Given the description of an element on the screen output the (x, y) to click on. 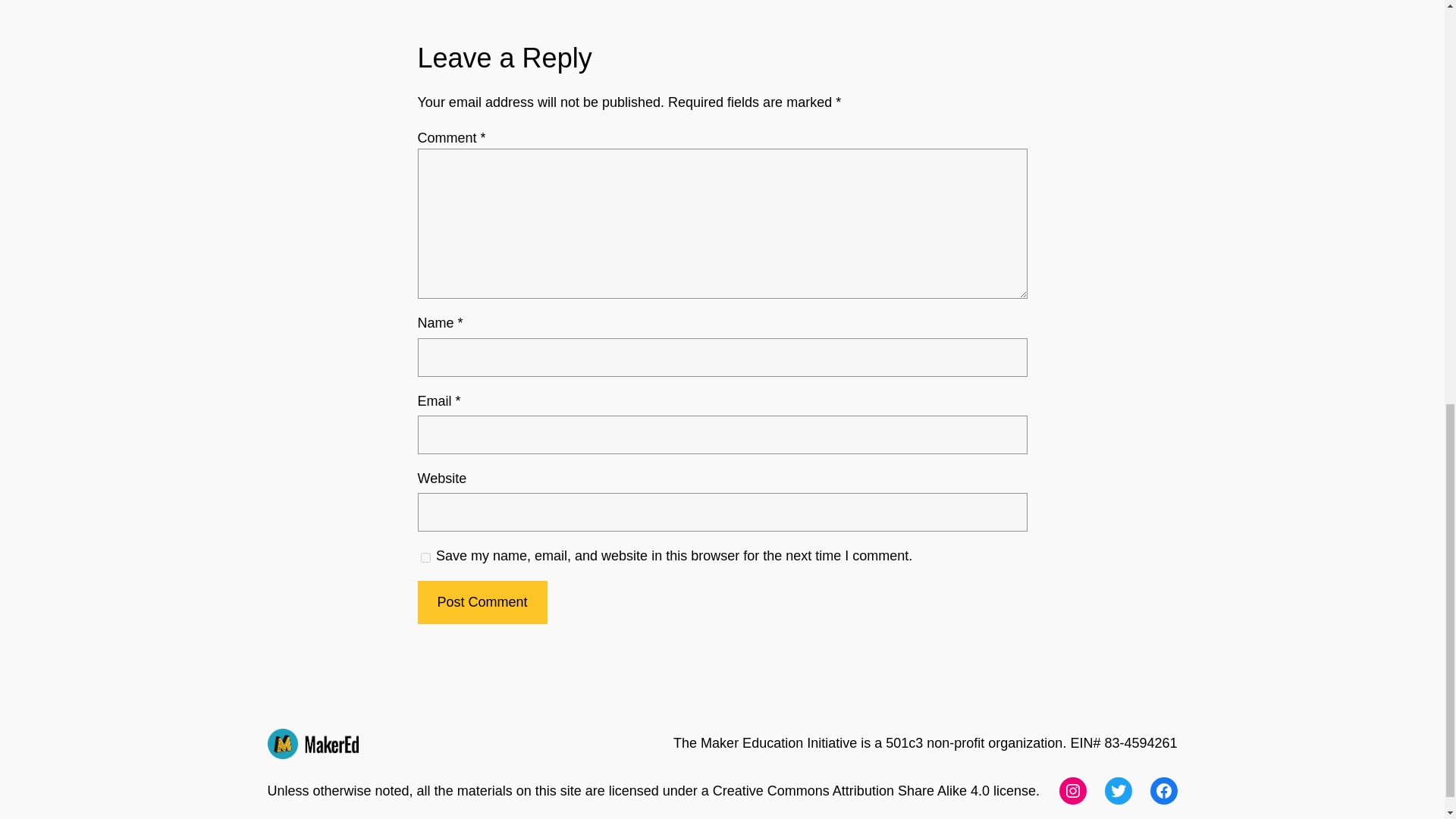
Facebook (1163, 790)
Twitter (1117, 790)
Instagram (1072, 790)
Post Comment (481, 602)
Post Comment (481, 602)
